Given the description of an element on the screen output the (x, y) to click on. 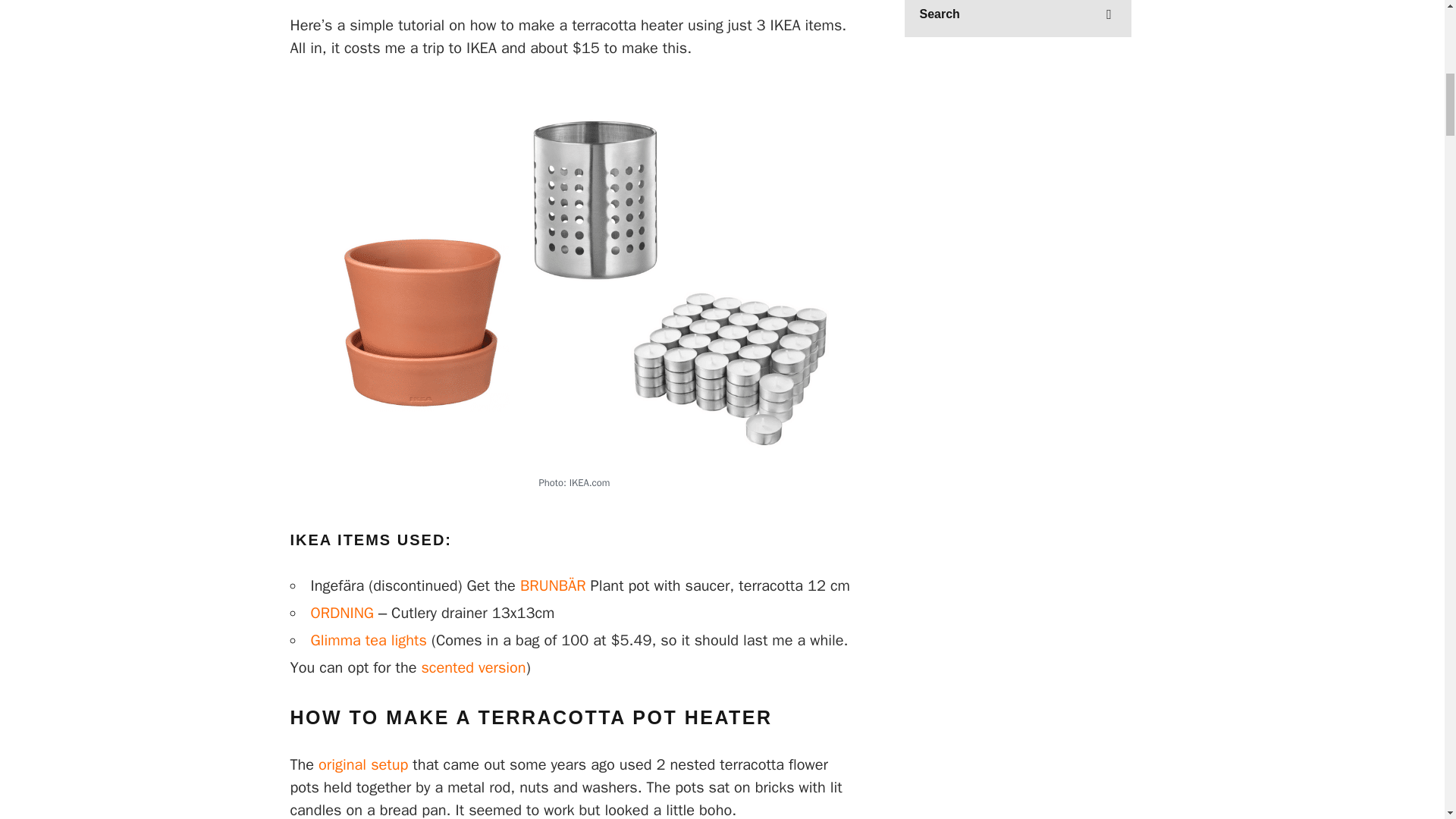
Terracotta pot heater made with just 3 IKEA items 1 (721, 12)
scented version (472, 667)
Glimma tea lights (368, 640)
ORDNING (342, 612)
original setup (362, 764)
